Given the description of an element on the screen output the (x, y) to click on. 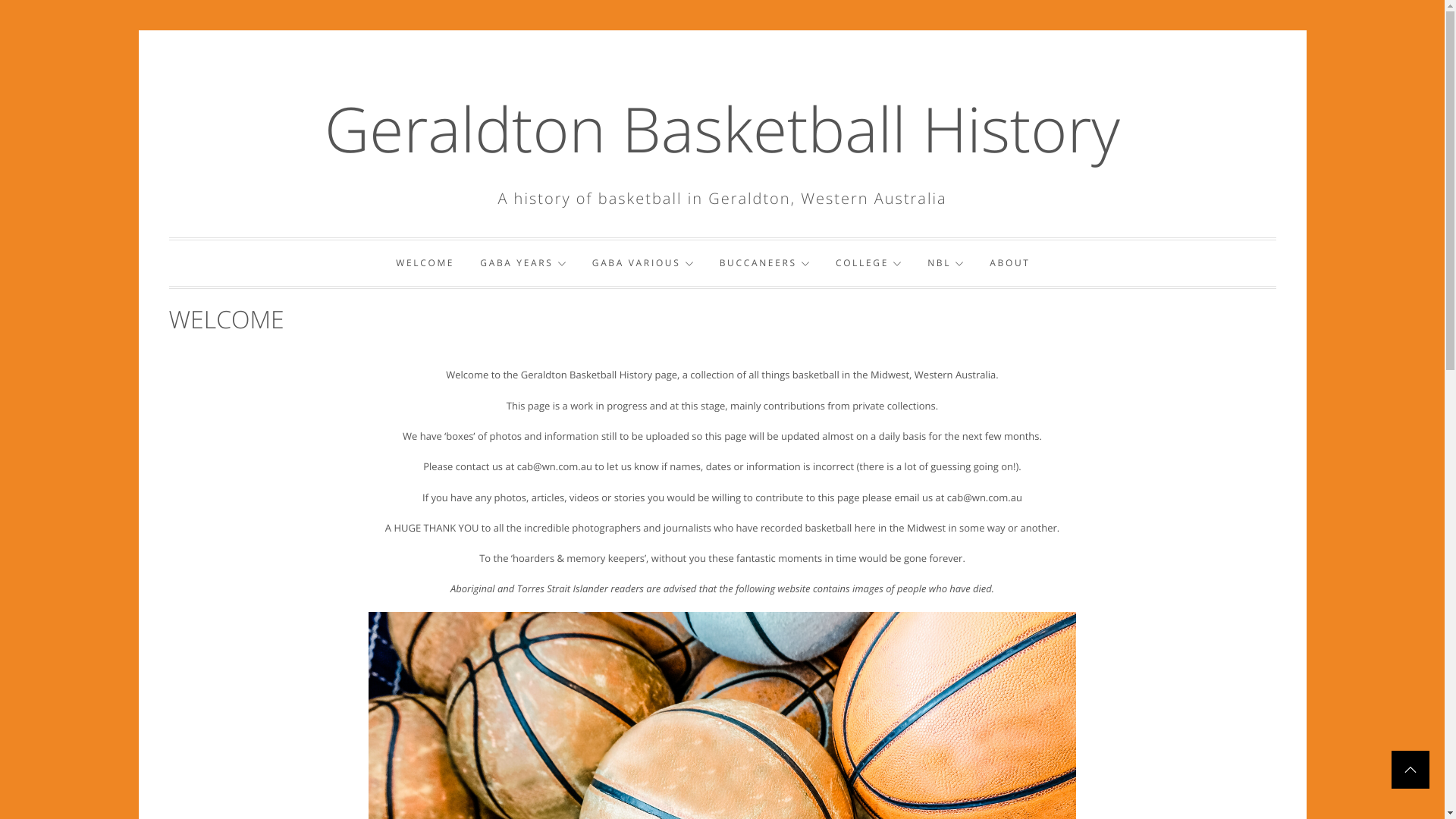
COLLEGE Element type: text (868, 262)
ABOUT Element type: text (1009, 262)
BUCCANEERS Element type: text (764, 262)
GABA YEARS Element type: text (522, 262)
GABA VARIOUS Element type: text (642, 262)
Skip to content Element type: text (138, 29)
Geraldton Basketball History Element type: text (722, 128)
WELCOME Element type: text (424, 262)
NBL Element type: text (945, 262)
